Given the description of an element on the screen output the (x, y) to click on. 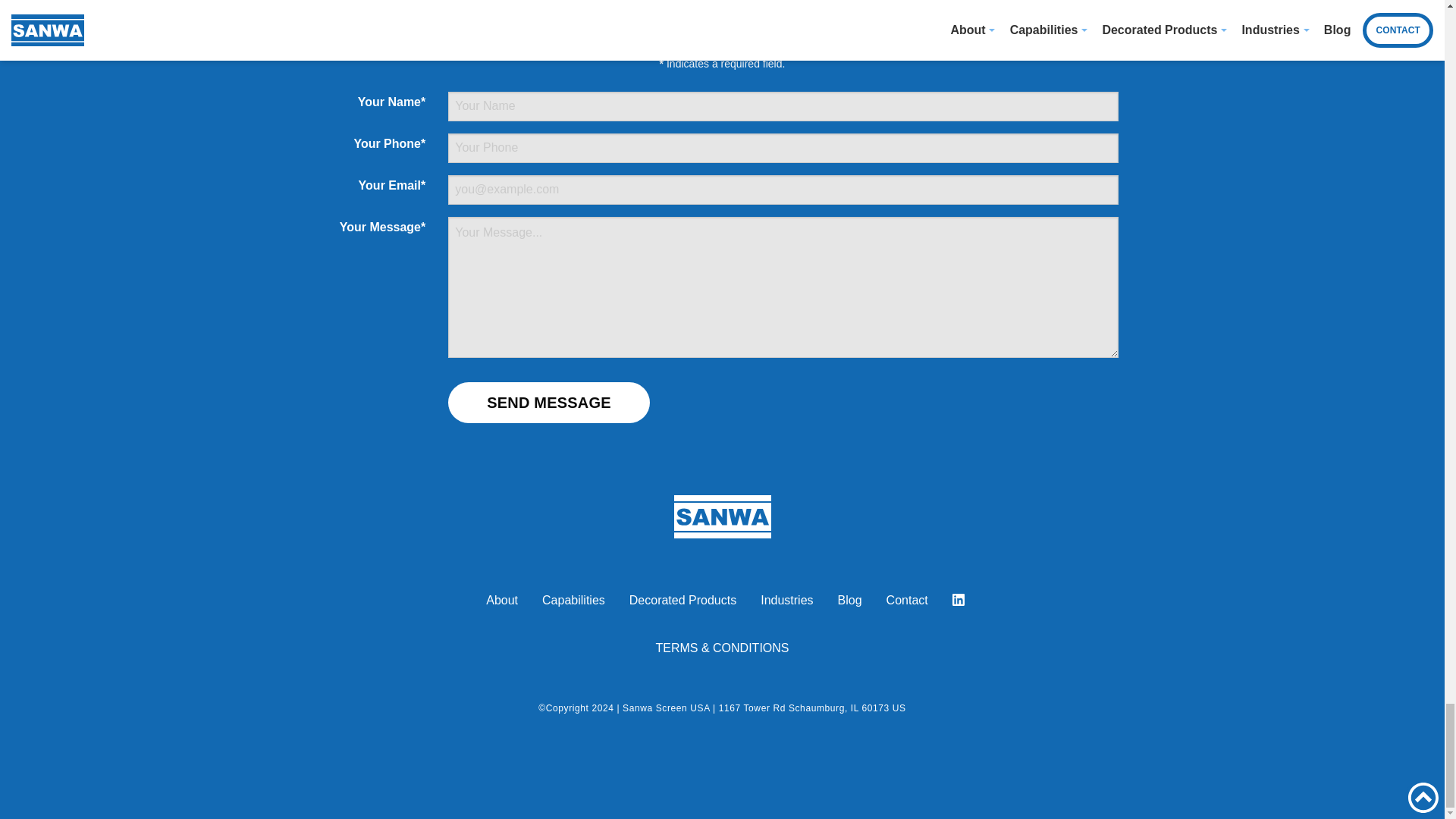
Send Message (548, 402)
